Given the description of an element on the screen output the (x, y) to click on. 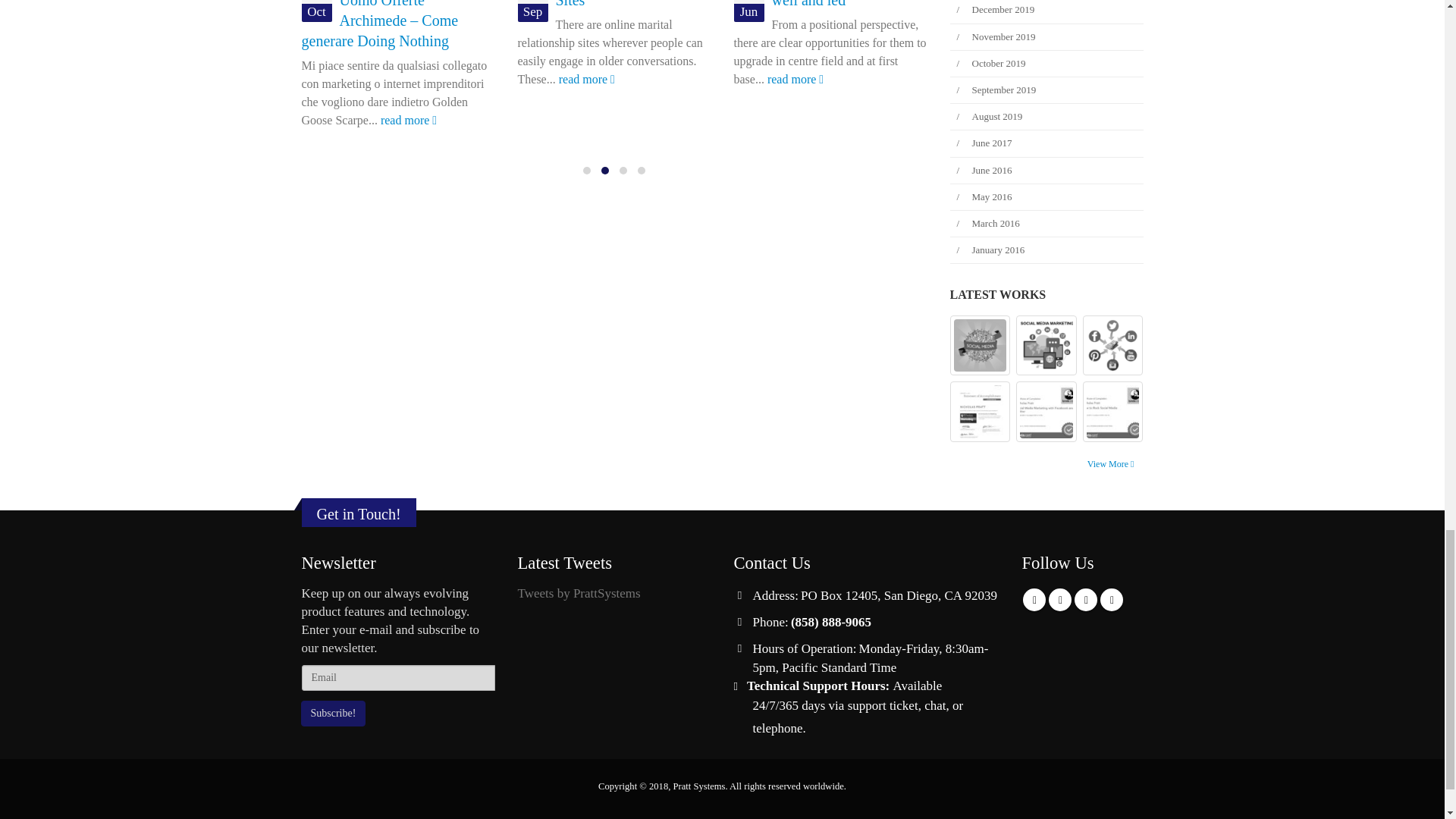
Subscribe! (332, 713)
